Given the description of an element on the screen output the (x, y) to click on. 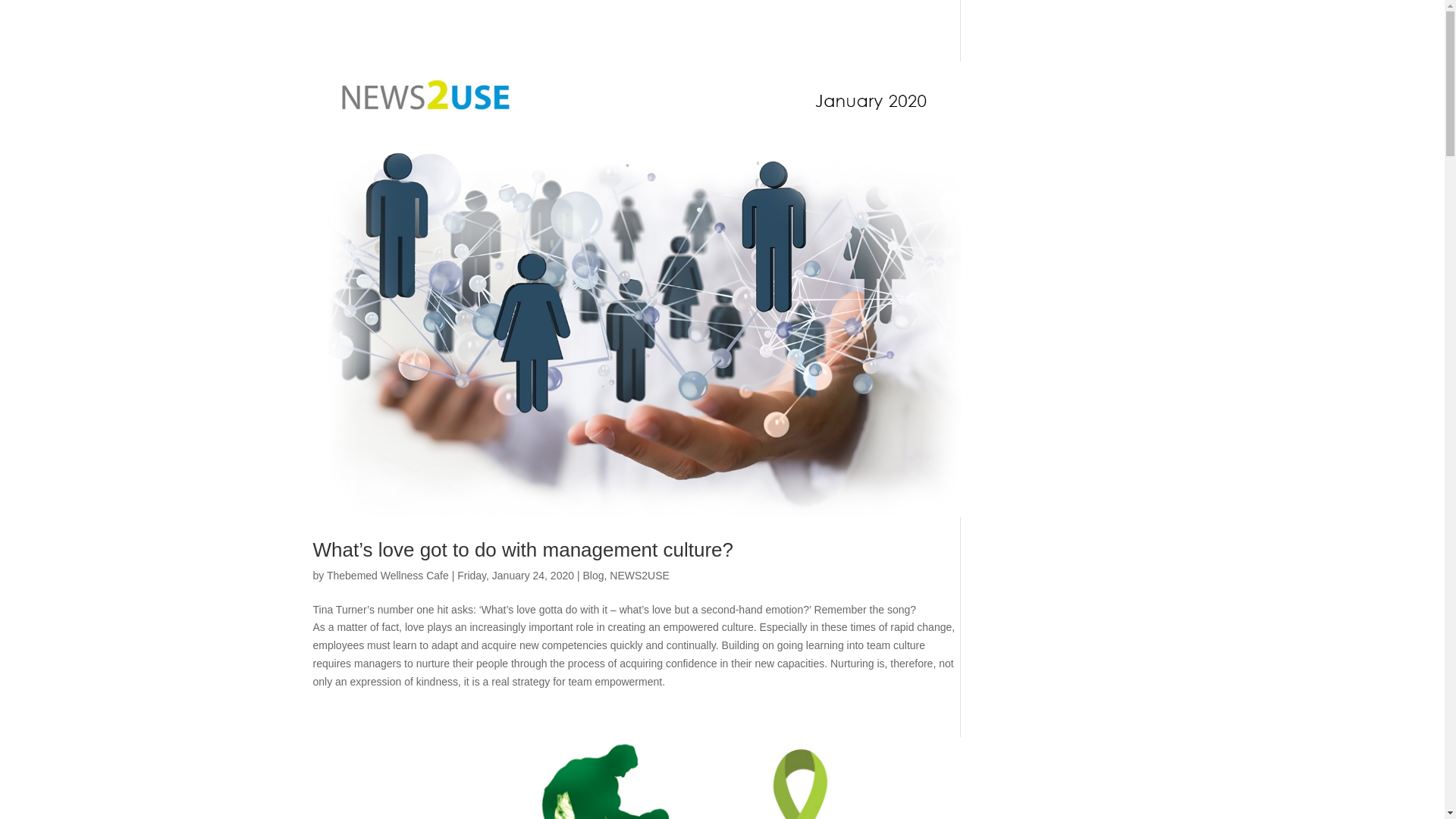
Blog (593, 575)
Posts by Thebemed Wellness Cafe (387, 575)
Thebemed Wellness Cafe (387, 575)
NEWS2USE (639, 575)
